Given the description of an element on the screen output the (x, y) to click on. 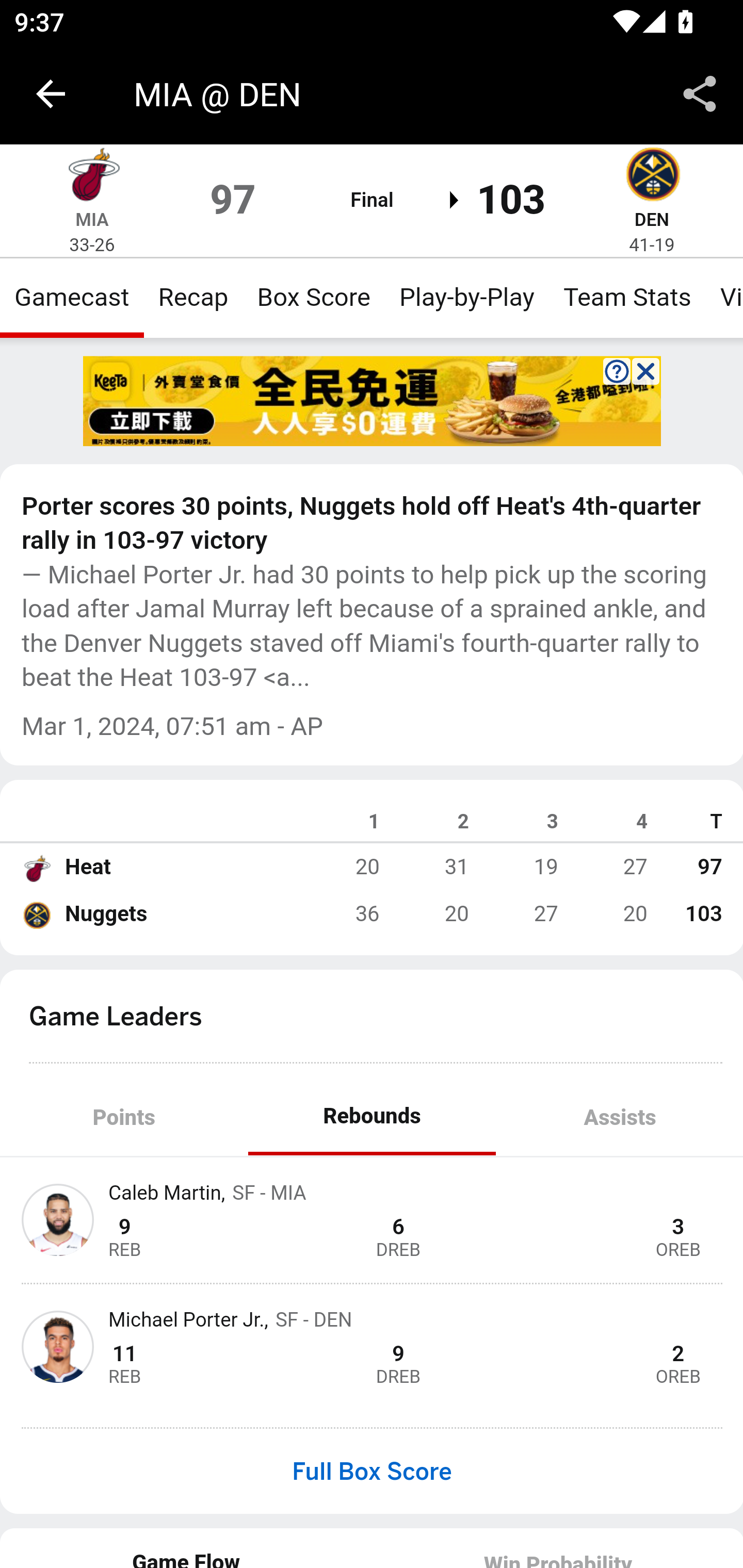
Navigate up (50, 93)
Share (699, 93)
Miami Heat (91, 177)
Denver Nuggets (651, 177)
MIA (91, 219)
DEN (651, 219)
Gamecast (72, 296)
Recap (192, 296)
Box Score (314, 296)
Play-by-Play (466, 296)
Team Stats (627, 296)
Miami Heat (36, 866)
Denver Nuggets (36, 913)
Points (124, 1116)
Rebounds (371, 1116)
Assists (618, 1116)
Full Box Score (371, 1471)
Game Flow (186, 1547)
Win Probability (557, 1547)
